Given the description of an element on the screen output the (x, y) to click on. 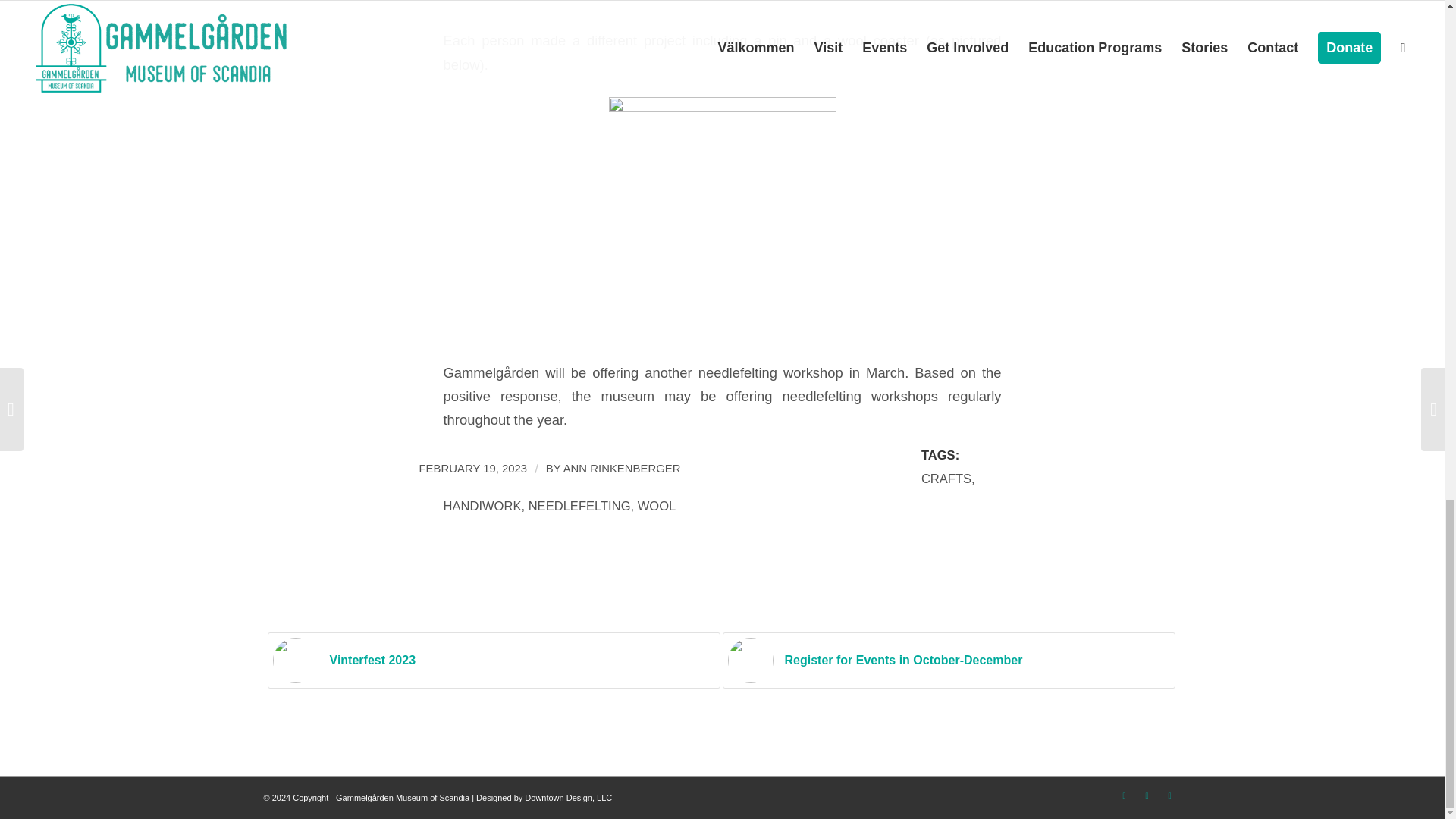
Instagram (1146, 794)
ANN RINKENBERGER (622, 468)
HANDIWORK (481, 505)
WOOL (657, 505)
Register for Events in October-December (948, 660)
Youtube (1169, 794)
Posts by Ann Rinkenberger (622, 468)
Facebook (1124, 794)
Designed by Downtown Design, LLC (543, 797)
CRAFTS (946, 478)
